Given the description of an element on the screen output the (x, y) to click on. 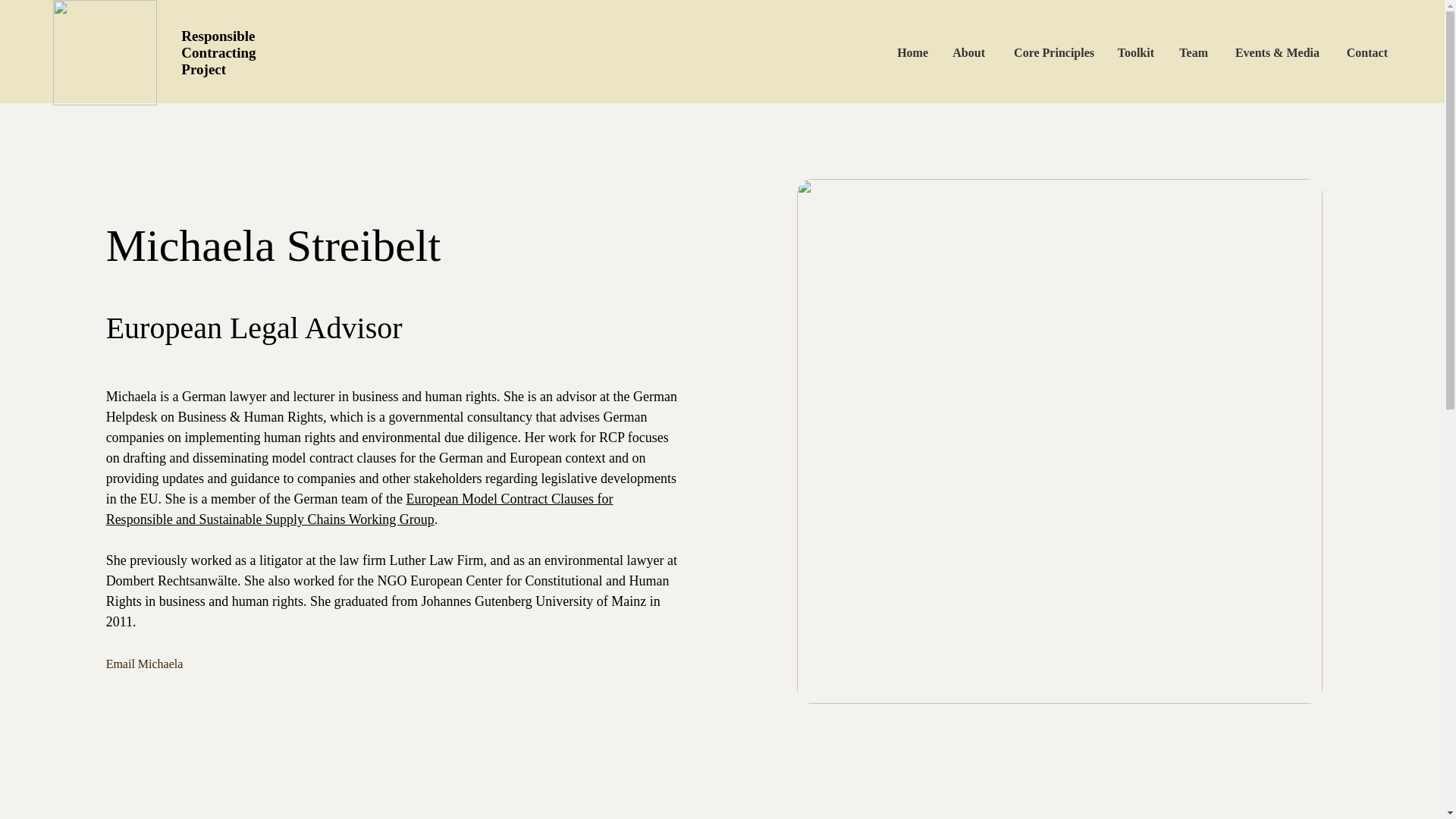
Home (911, 52)
Email Michaela (172, 664)
Toolkit (1135, 52)
Contact (1364, 52)
Team (1193, 52)
About (967, 52)
Core Principles (1050, 52)
